Given the description of an element on the screen output the (x, y) to click on. 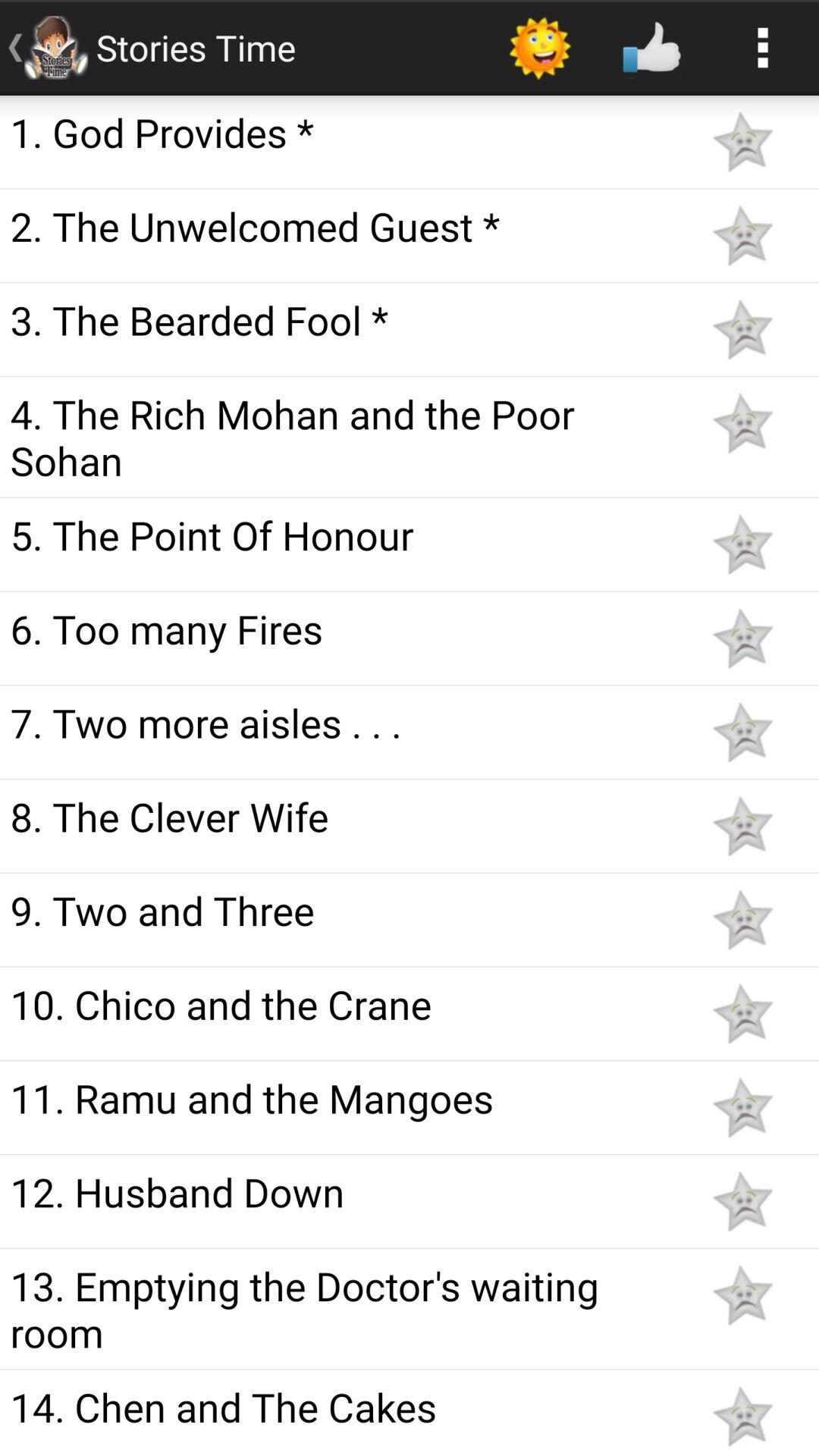
flip to the 11 ramu and (343, 1097)
